Given the description of an element on the screen output the (x, y) to click on. 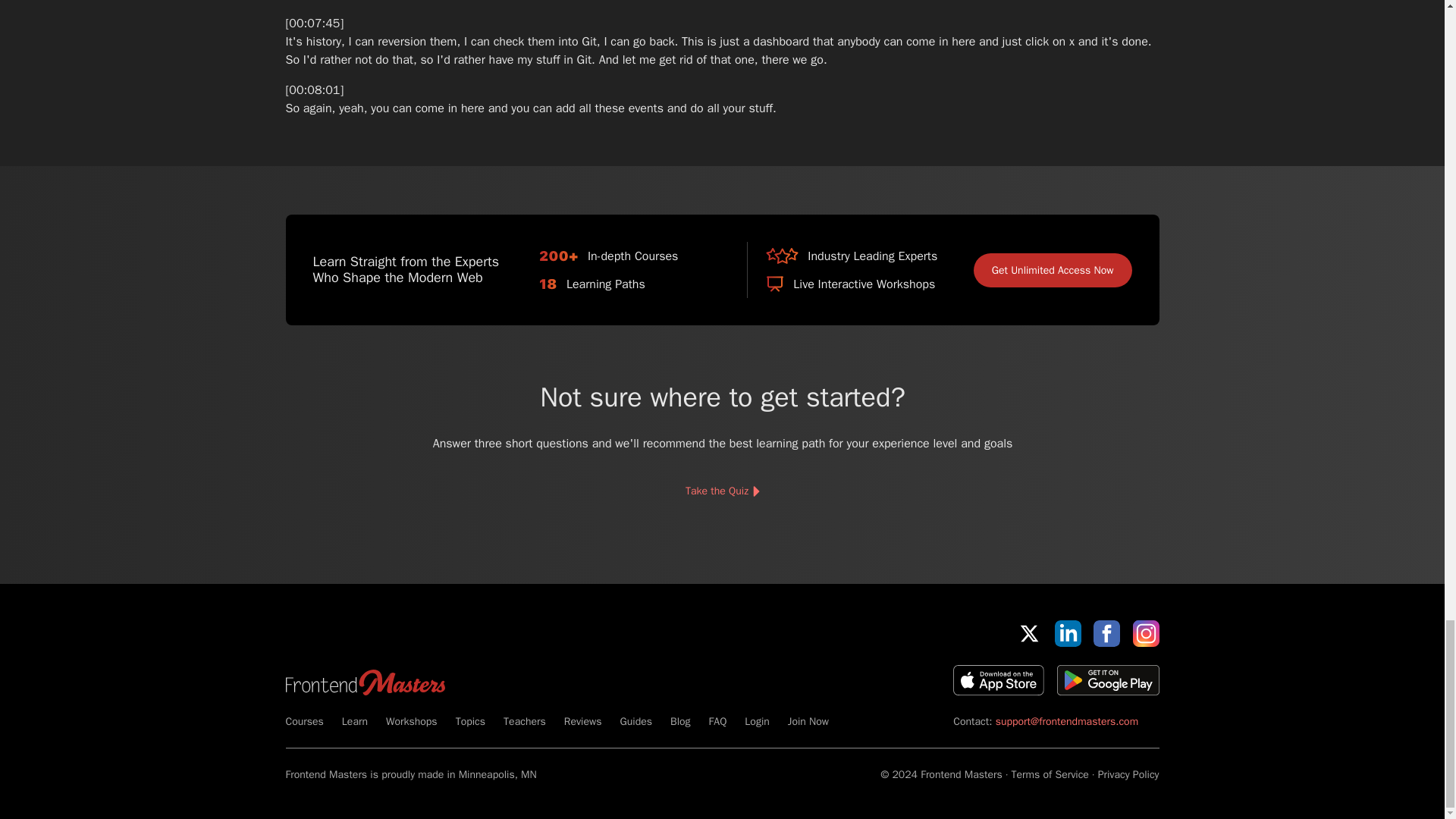
Topics (469, 721)
Facebook (1106, 633)
Reviews (583, 721)
Get Unlimited Access Now (1053, 270)
Workshops (411, 721)
Take the Quiz (720, 490)
Login (756, 721)
Courses (304, 721)
Join Now (807, 721)
LinkedIn (1067, 633)
